Given the description of an element on the screen output the (x, y) to click on. 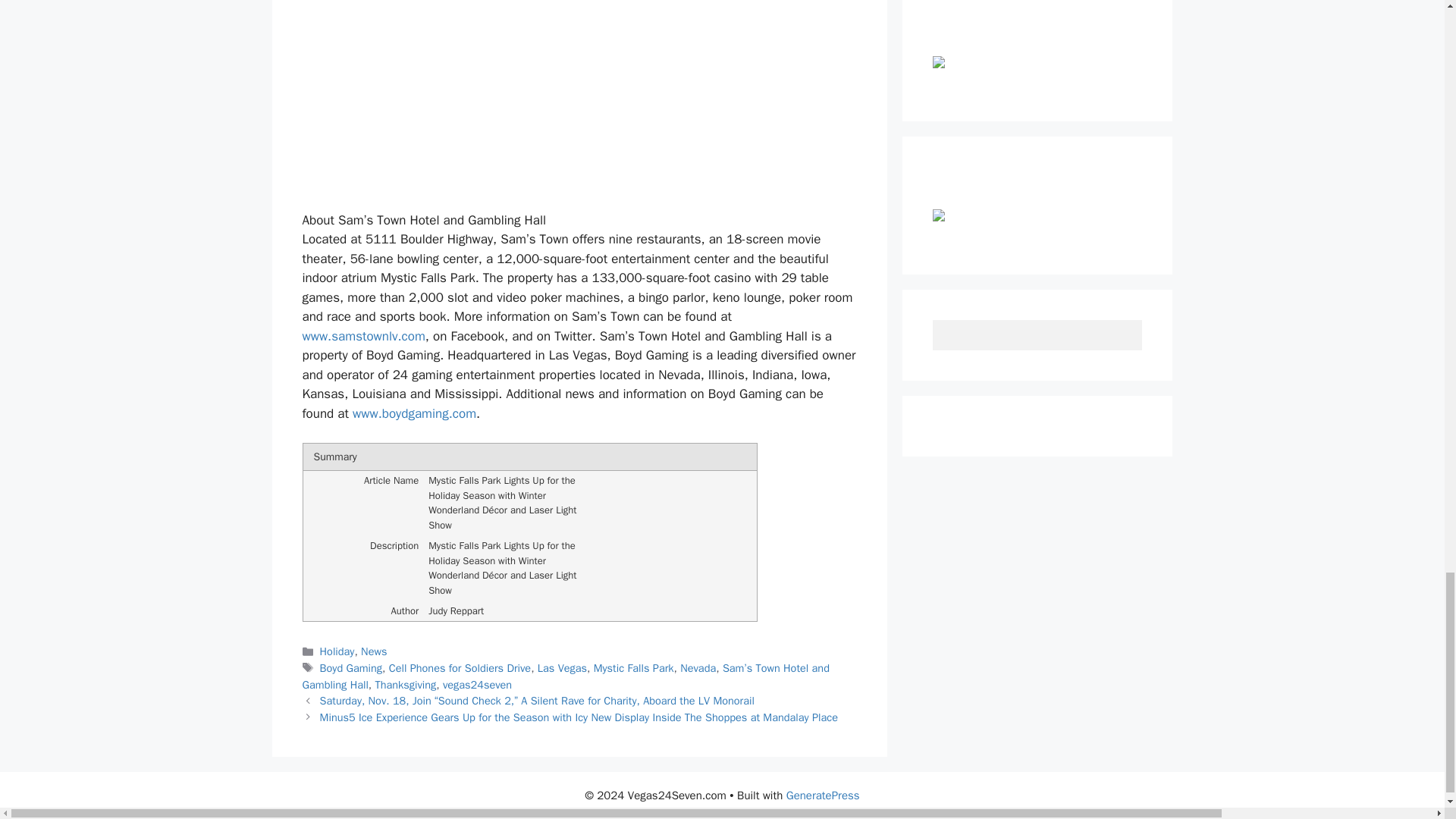
www.boydgaming.com (414, 413)
Boyd Gaming (350, 667)
Holiday (337, 651)
www.samstownlv.com (363, 335)
News (374, 651)
